Given the description of an element on the screen output the (x, y) to click on. 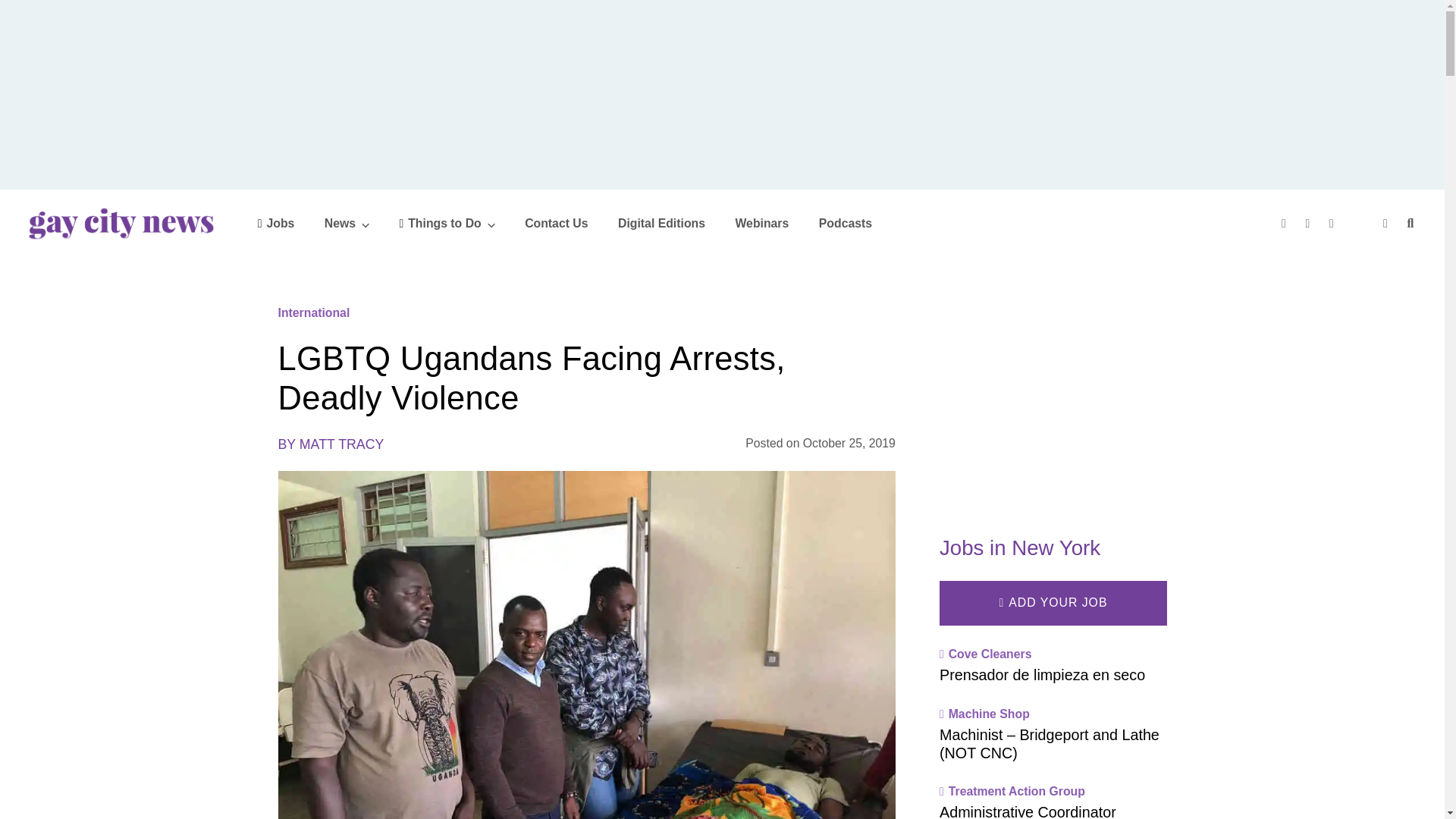
Podcasts (845, 223)
Webinars (762, 223)
Things to Do (446, 223)
Digital Editions (660, 223)
Jobs (276, 223)
Contact Us (556, 223)
News (346, 223)
